Given the description of an element on the screen output the (x, y) to click on. 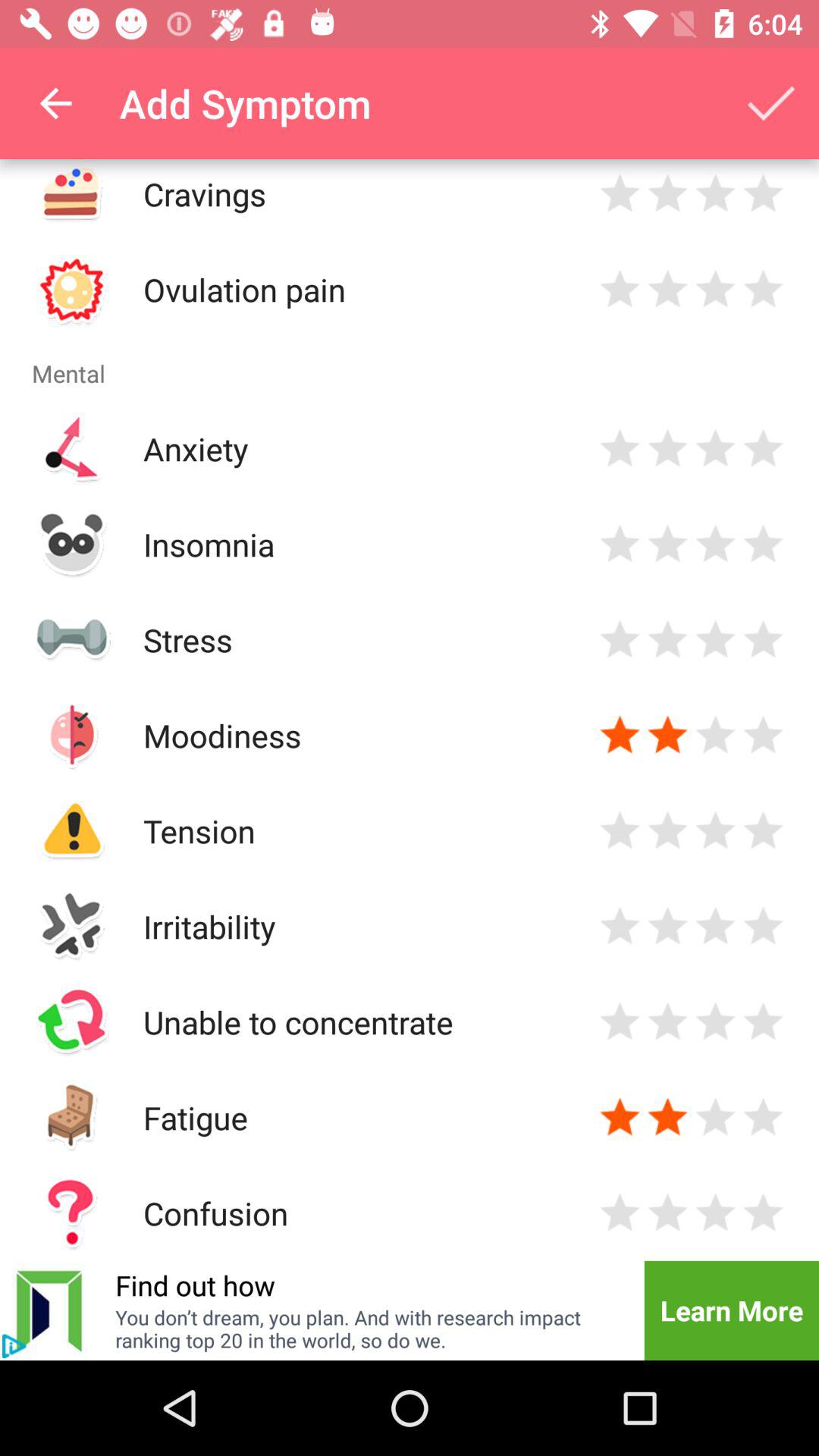
rate 1 star for stress (619, 639)
